Given the description of an element on the screen output the (x, y) to click on. 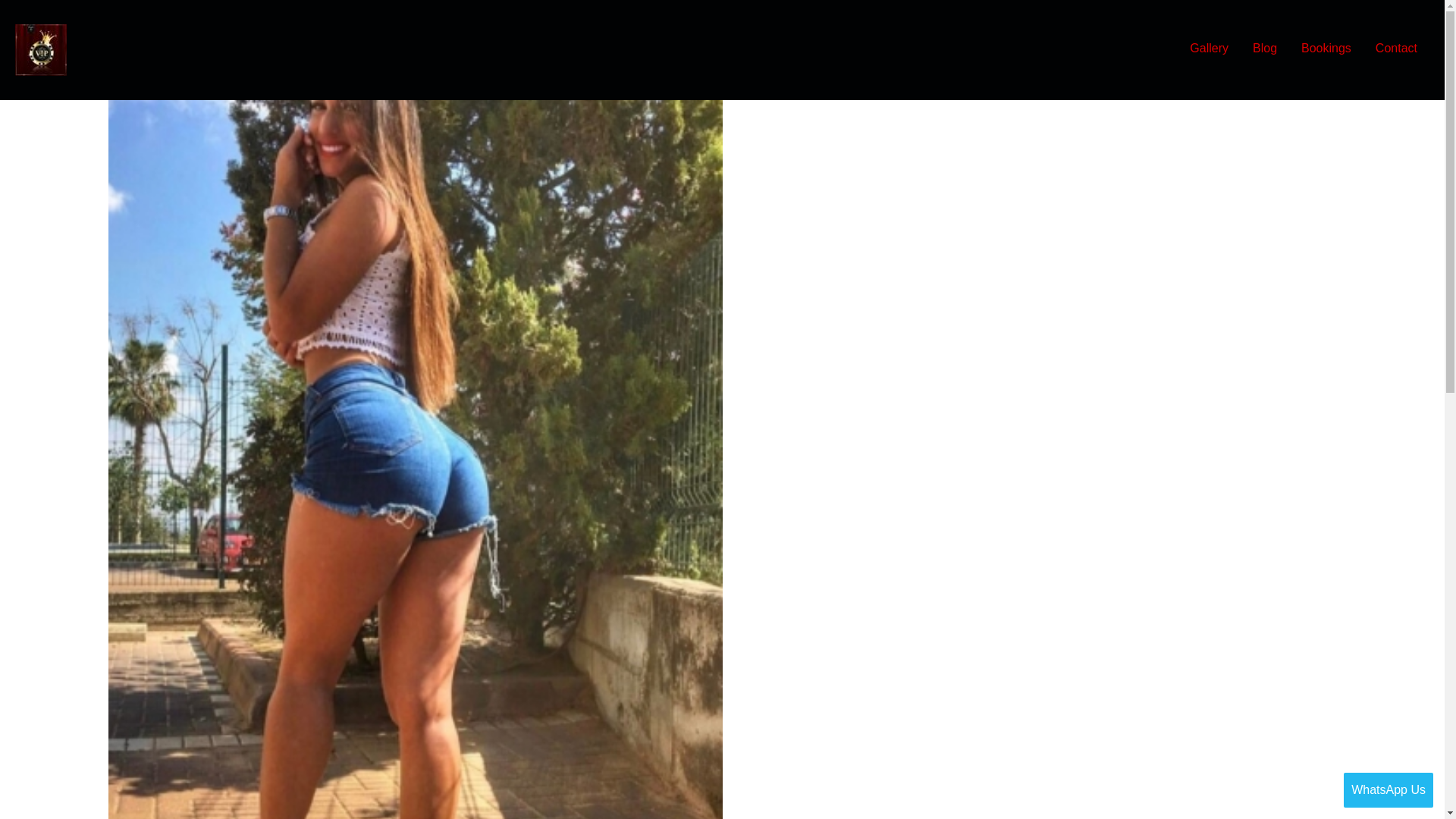
Bookings (1325, 48)
Gallery (1208, 48)
Contact (1395, 48)
WhatsApp Us (1387, 790)
Blog (1264, 48)
